Given the description of an element on the screen output the (x, y) to click on. 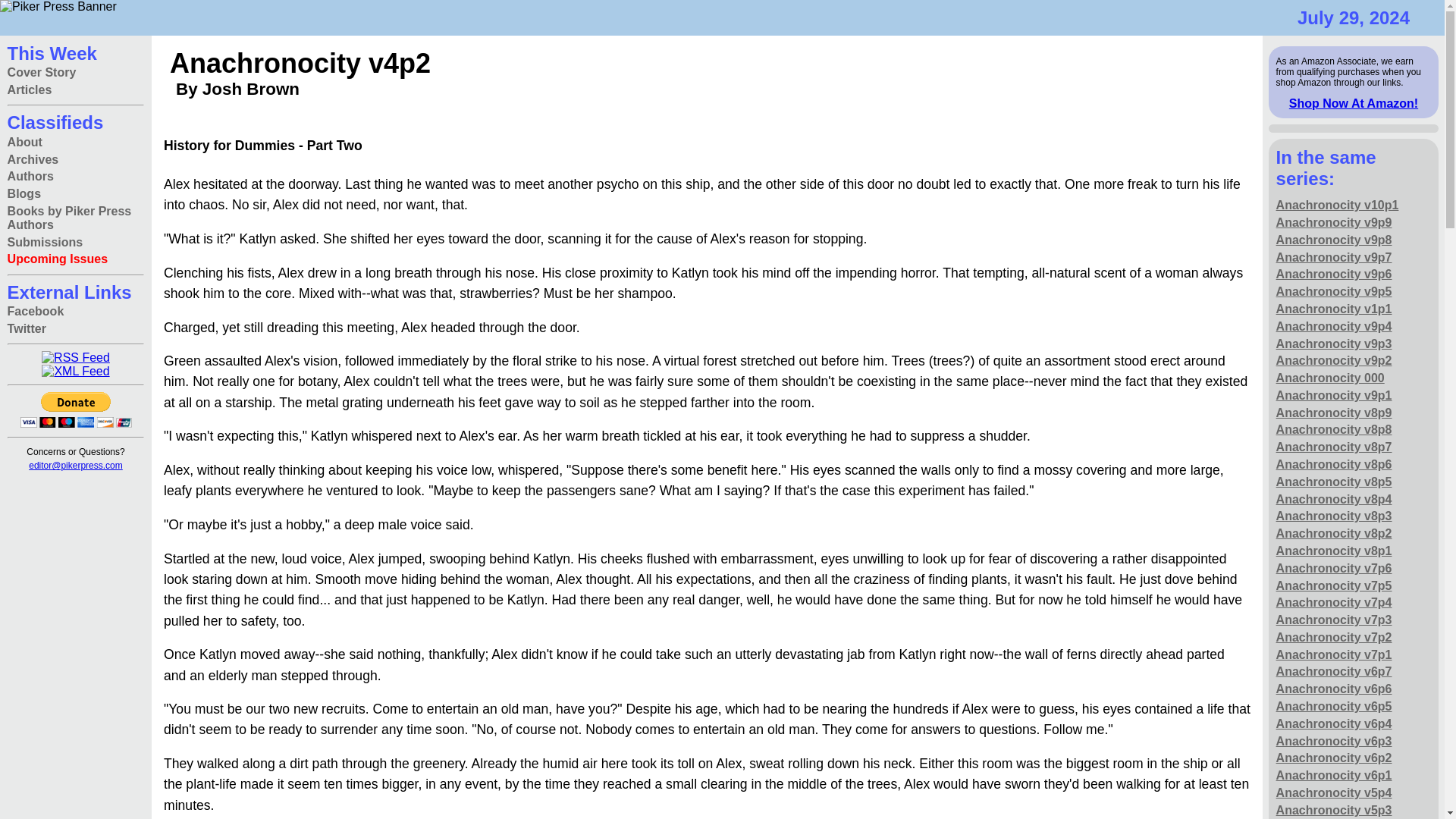
Anachronocity v8p6 (1333, 465)
Anachronocity v8p4 (1333, 498)
Blogs (23, 194)
Anachronocity v8p8 (1333, 429)
Anachronocity v9p6 (1333, 274)
Anachronocity v9p8 (1333, 240)
Anachronocity v8p5 (1333, 481)
Facebook (35, 312)
Anachronocity v8p2 (1333, 533)
About (24, 141)
Anachronocity v9p1 (1333, 395)
Anachronocity v9p3 (1333, 343)
Anachronocity v8p7 (1333, 447)
Anachronocity v9p7 (1333, 257)
Articles (29, 90)
